Given the description of an element on the screen output the (x, y) to click on. 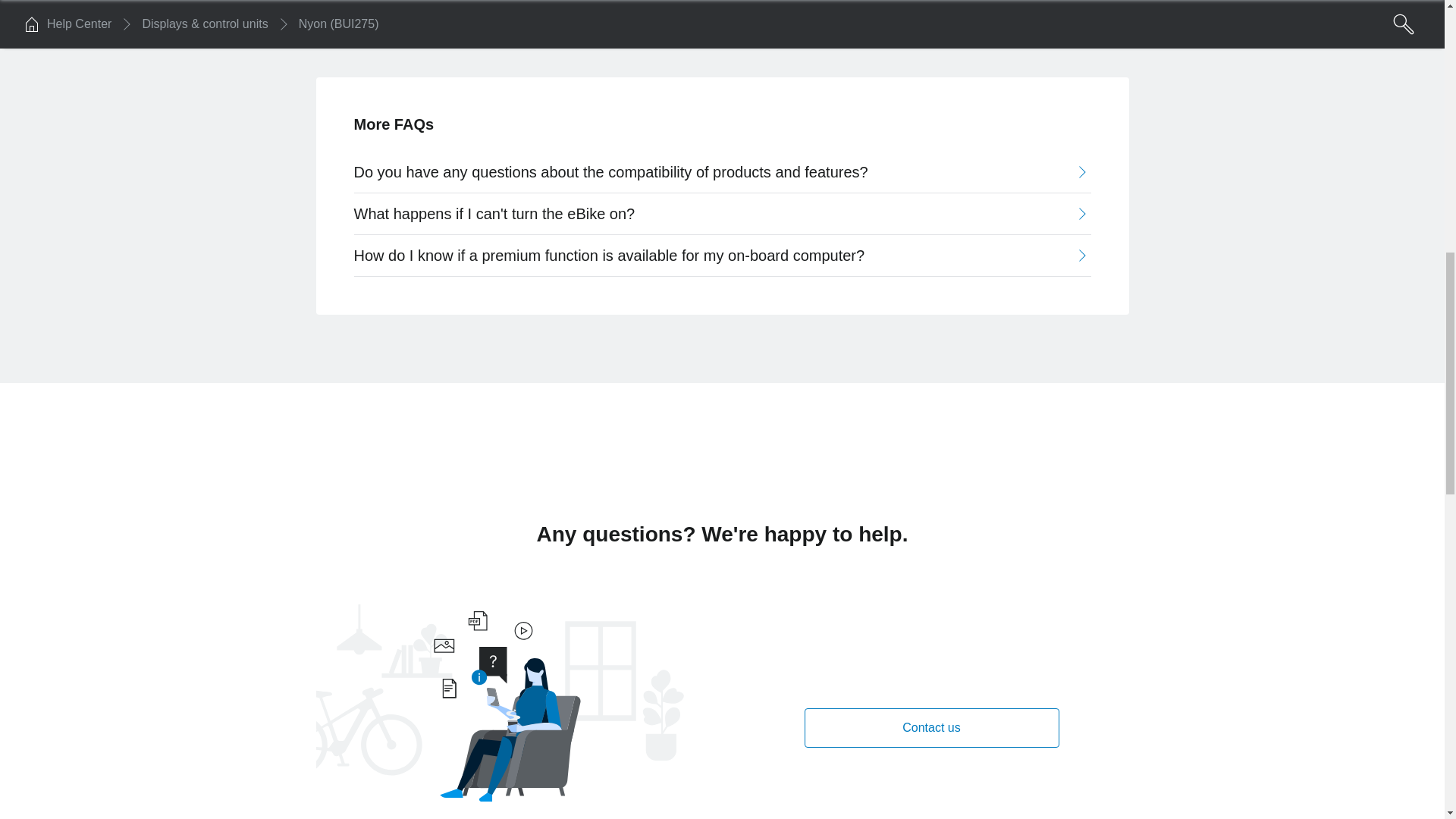
What happens if I can't turn the eBike on? (721, 213)
Contact us (930, 727)
